Given the description of an element on the screen output the (x, y) to click on. 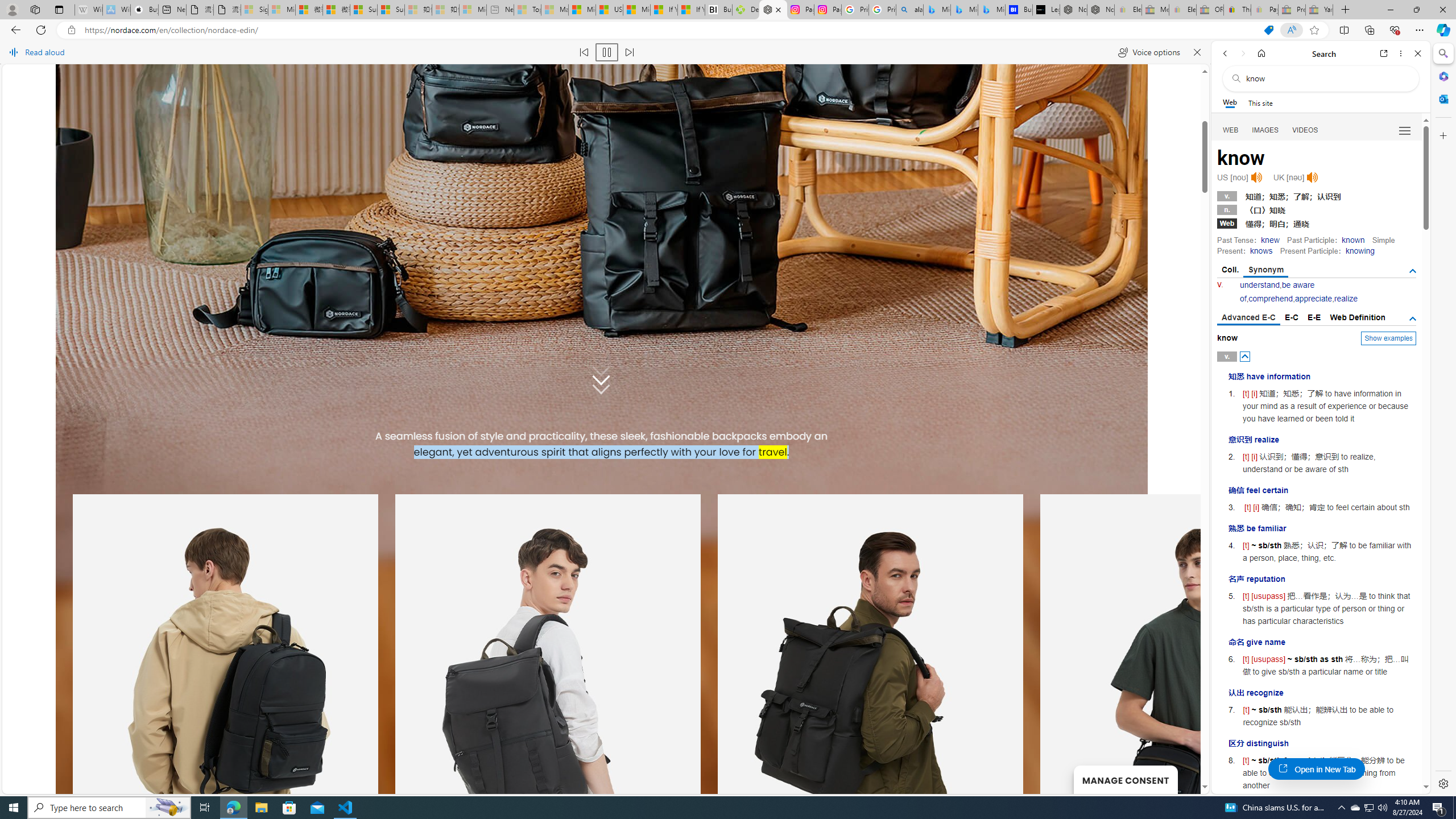
Top Stories - MSN - Sleeping (527, 9)
WEB (1231, 130)
appreciate (1313, 298)
understand (1259, 284)
Previous (515, 472)
Microsoft Bing Travel - Flights from Hong Kong to Bangkok (936, 9)
Edin Classic Backpack (59, 436)
